Given the description of an element on the screen output the (x, y) to click on. 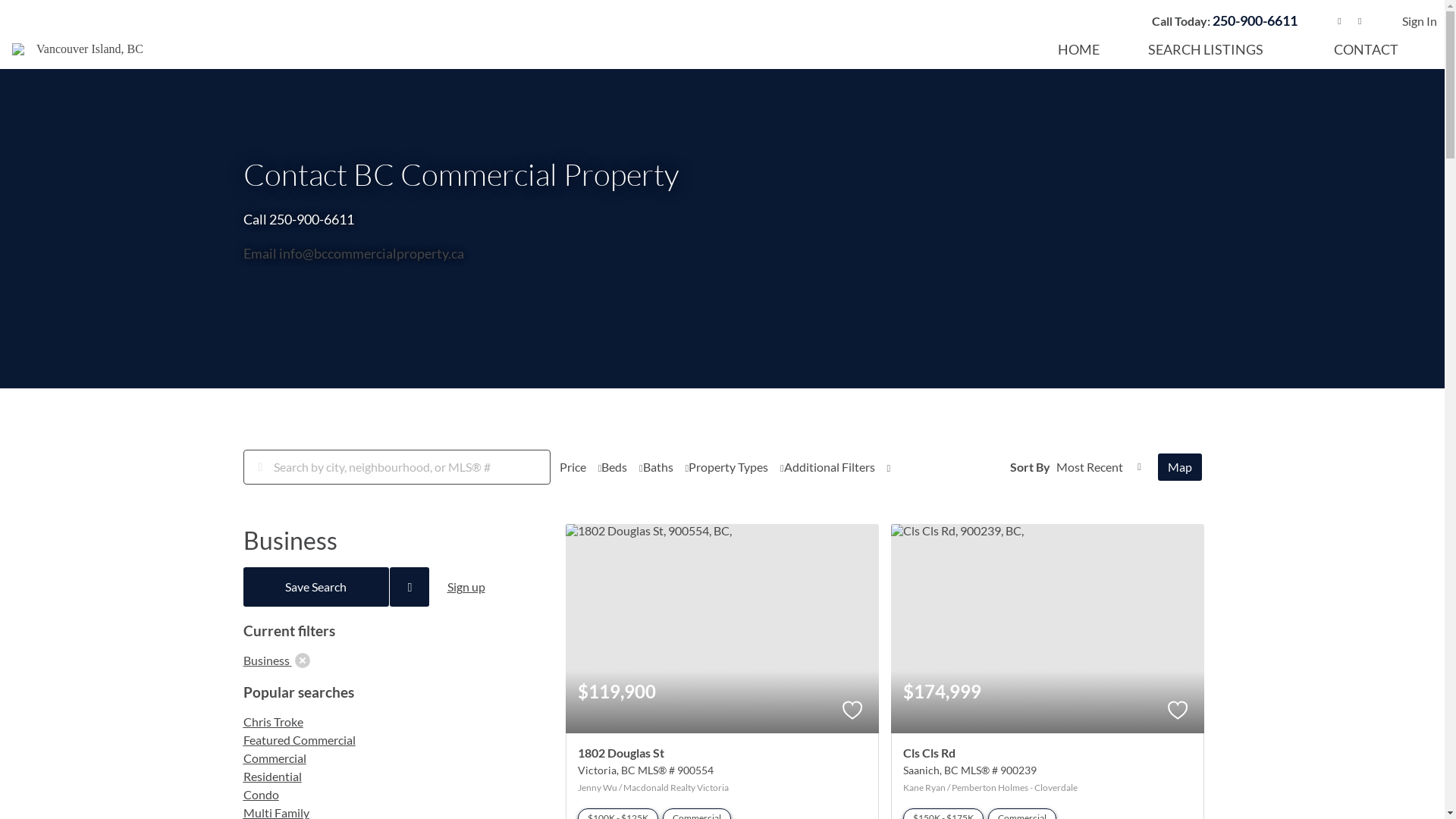
Sign up Element type: text (466, 586)
Call Today: 250-900-6611 Element type: text (1222, 21)
Featured Commercial Element type: text (298, 739)
Commercial Element type: text (273, 757)
Email info@bccommercialproperty.ca Element type: text (352, 252)
Chris Troke Element type: text (272, 721)
CONTACT Element type: text (1365, 49)
Condo Element type: text (260, 794)
Sign In Element type: text (1419, 21)
Residential Element type: text (271, 775)
HOME Element type: text (1078, 49)
Map Element type: text (1179, 466)
Save Search Element type: text (315, 586)
